Given the description of an element on the screen output the (x, y) to click on. 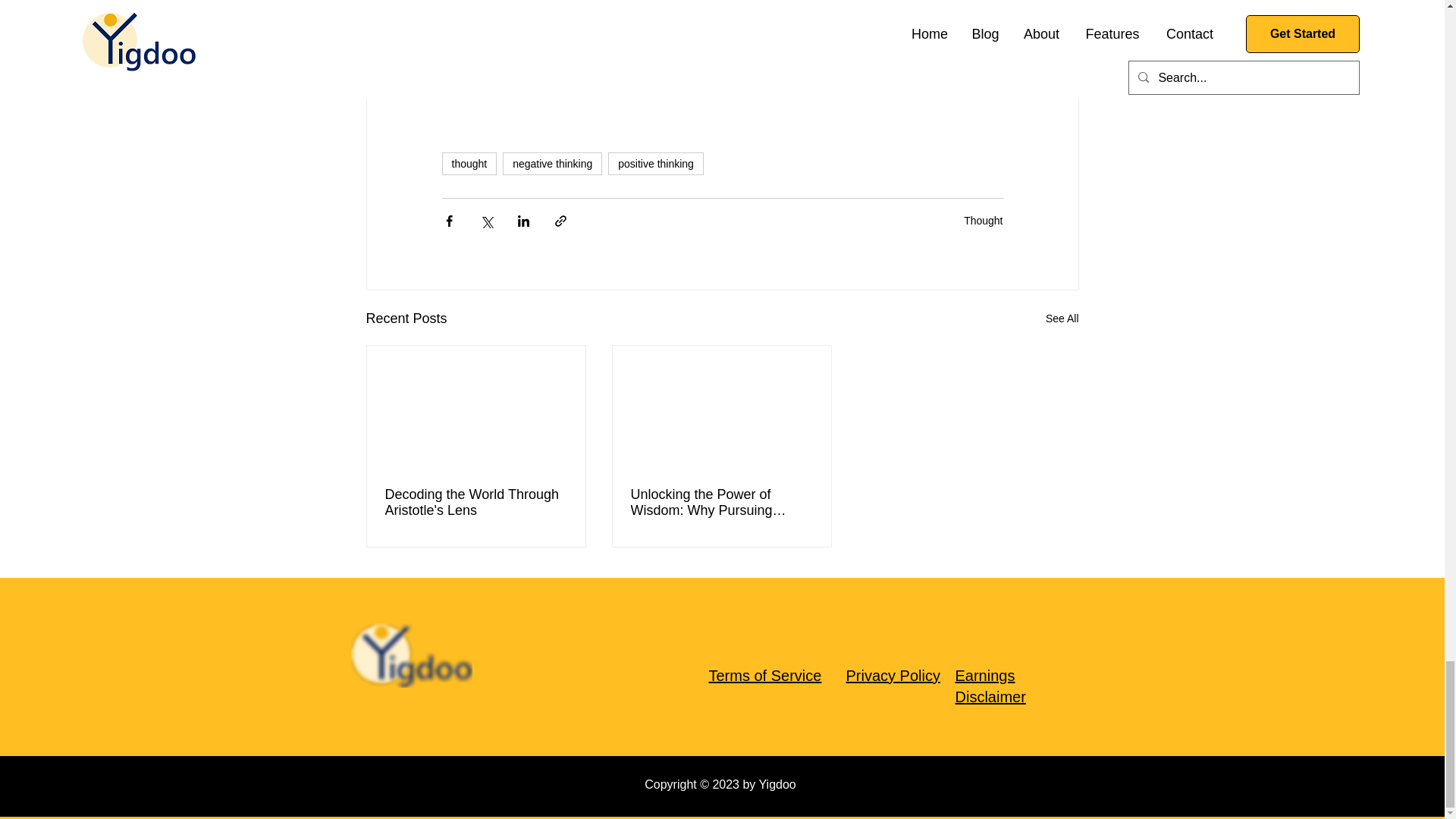
visit this web page now (927, 43)
positive thinking (655, 163)
thought (468, 163)
Decoding the World Through Aristotle's Lens (476, 502)
Earnings Disclaimer (990, 686)
Thought (983, 220)
See All (1061, 318)
Terms of Service (764, 675)
negative thinking (552, 163)
